Given the description of an element on the screen output the (x, y) to click on. 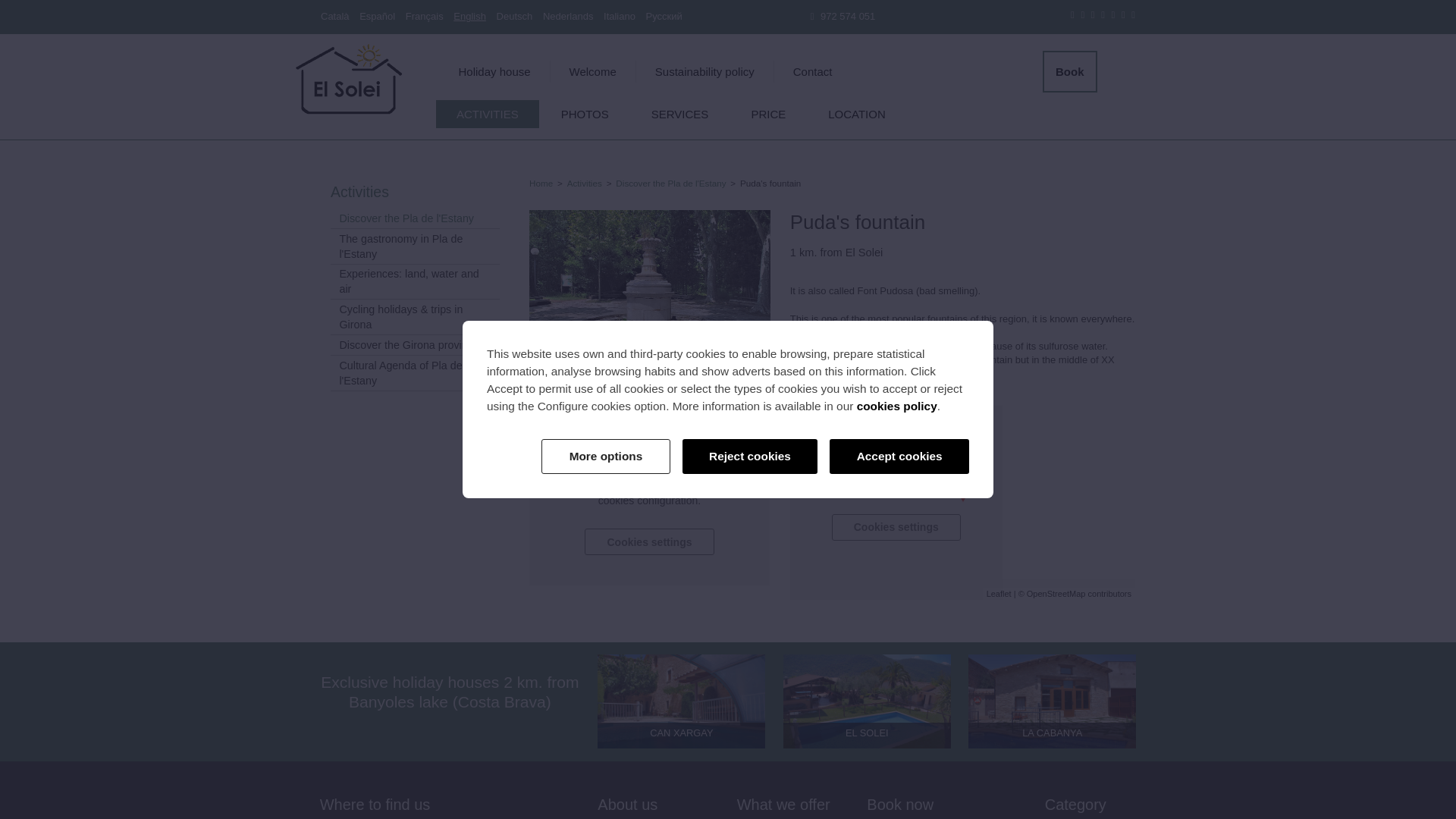
Italiano (619, 16)
Deutsch (514, 16)
Nederlands (568, 16)
English (469, 16)
